Given the description of an element on the screen output the (x, y) to click on. 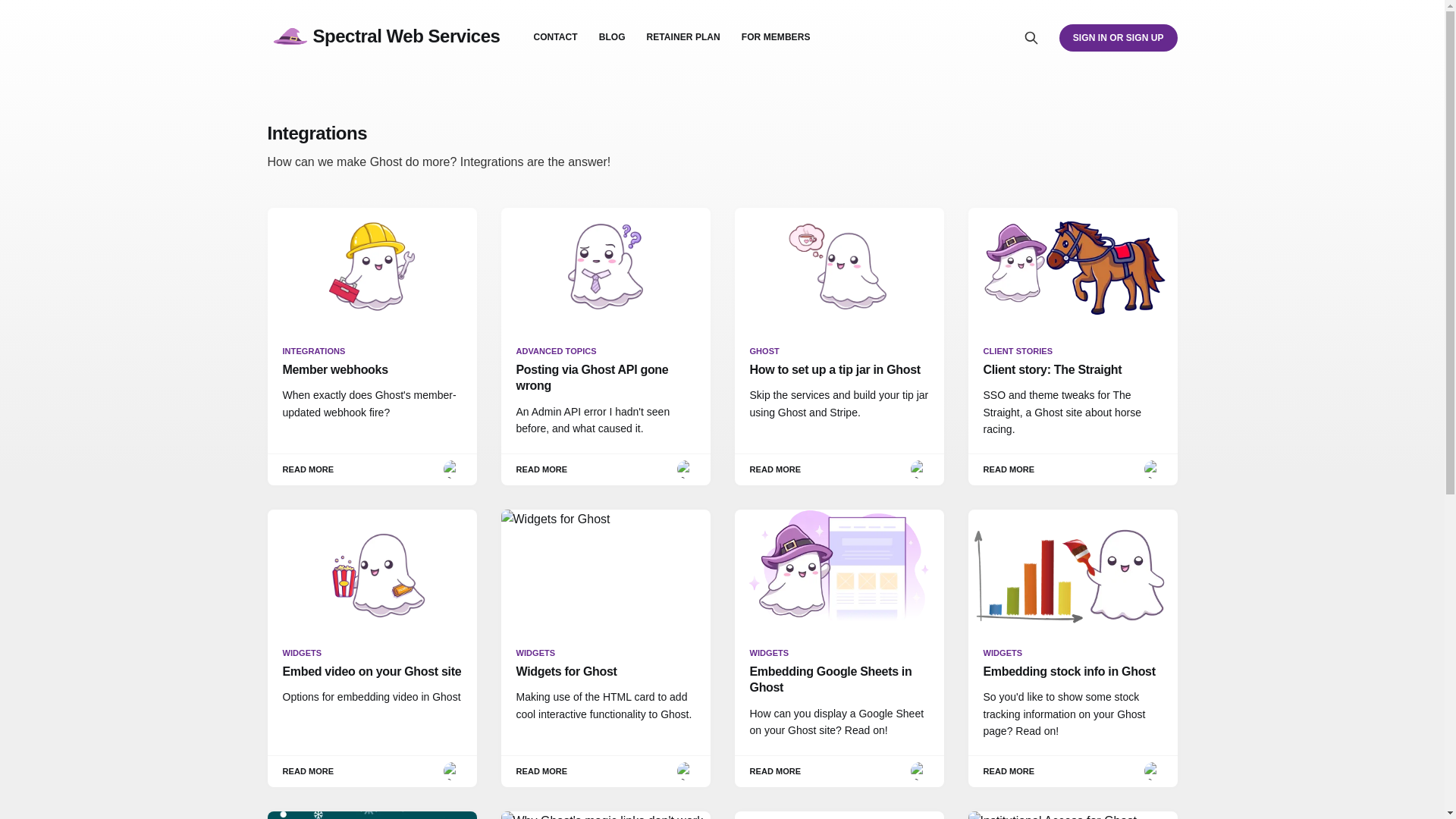
Spectral Web Services (382, 37)
RETAINER PLAN (683, 36)
FOR MEMBERS (775, 36)
SIGN IN OR SIGN UP (1118, 37)
BLOG (612, 36)
CONTACT (554, 36)
